Given the description of an element on the screen output the (x, y) to click on. 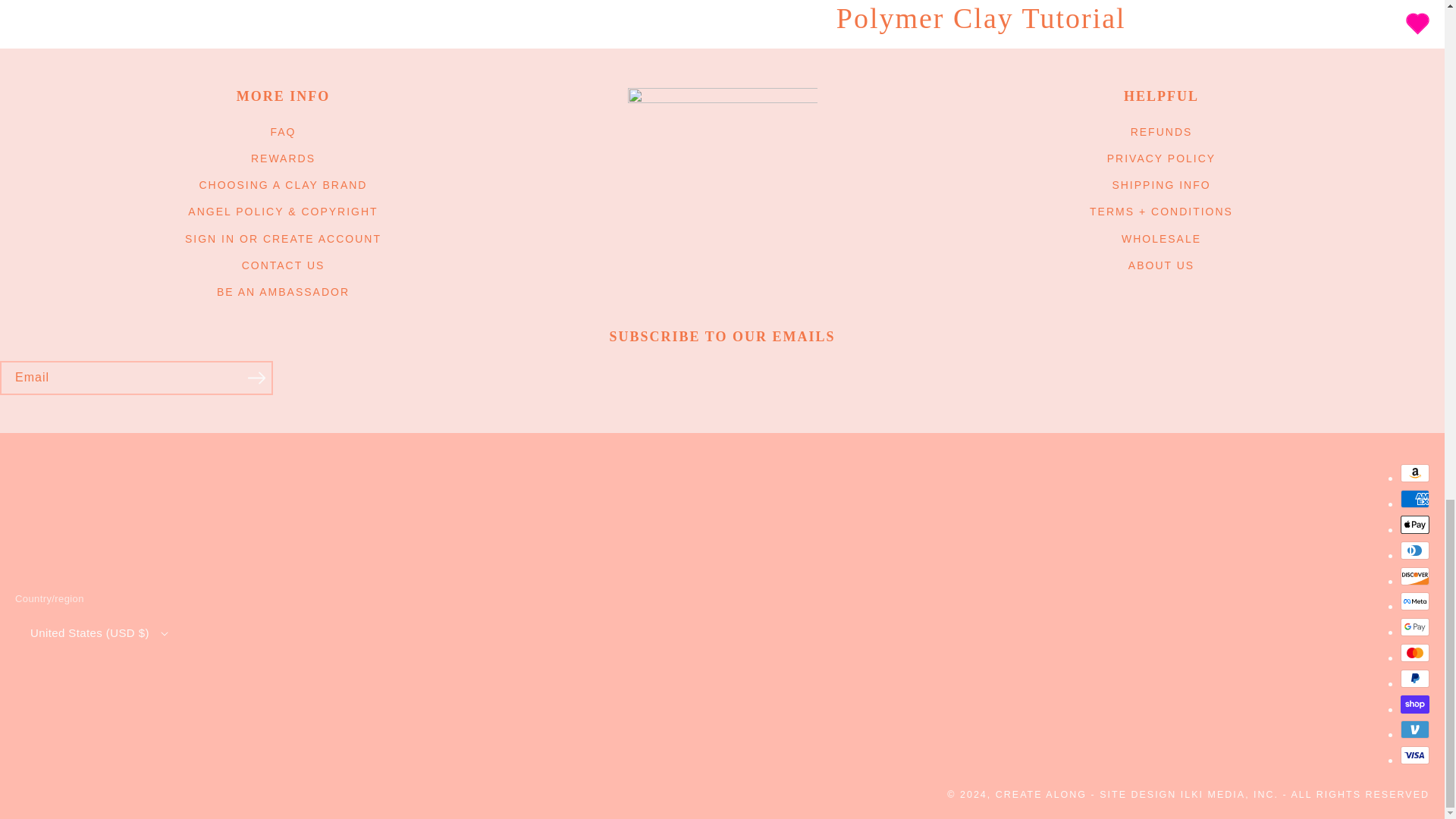
Diners Club (1414, 550)
Apple Pay (1414, 524)
American Express (1414, 498)
Amazon (1414, 473)
Mastercard (1414, 652)
Discover (1414, 576)
Google Pay (1414, 627)
Meta Pay (1414, 601)
